Given the description of an element on the screen output the (x, y) to click on. 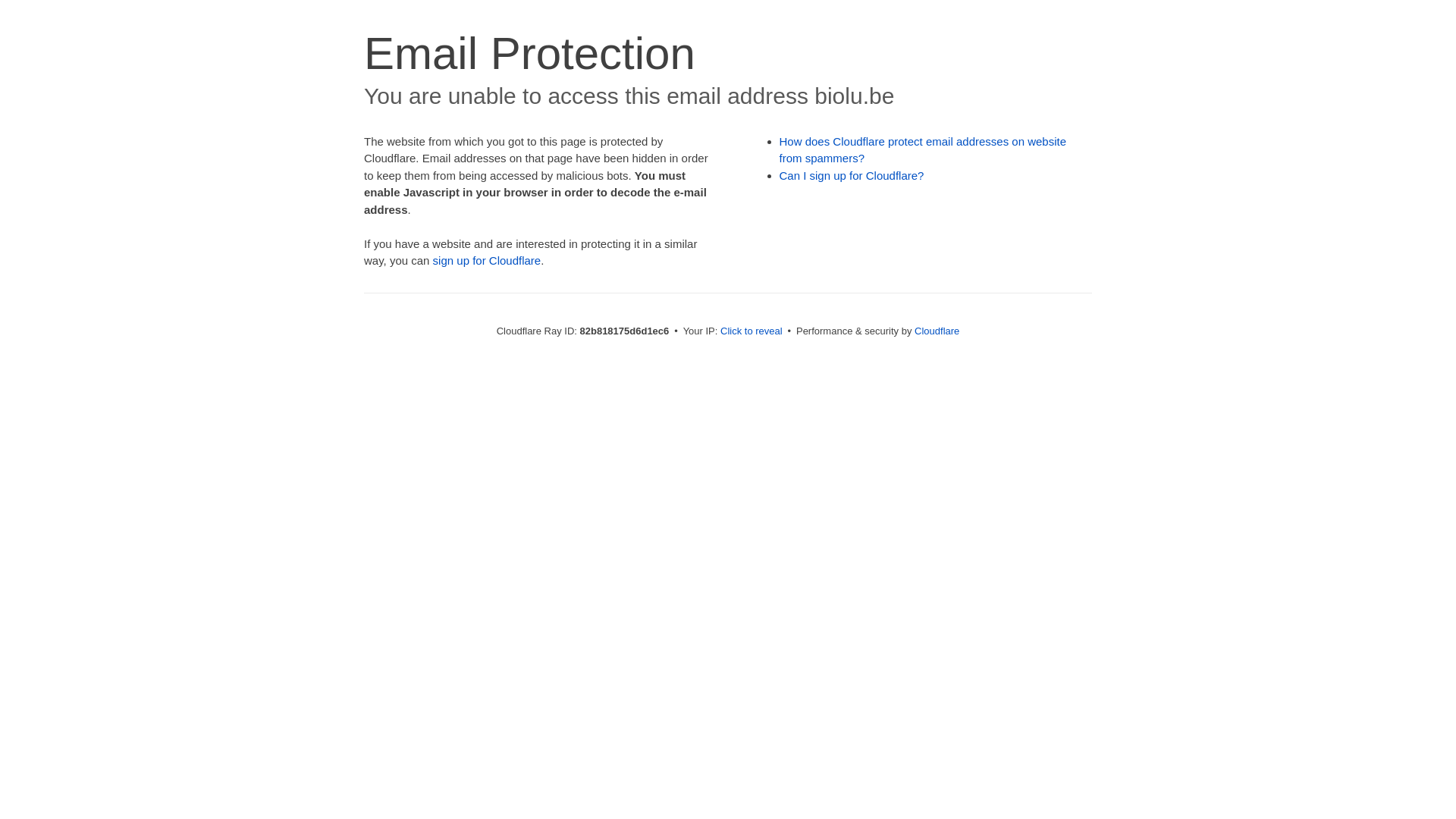
Cloudflare Element type: text (936, 330)
sign up for Cloudflare Element type: text (487, 260)
Click to reveal Element type: text (751, 330)
Can I sign up for Cloudflare? Element type: text (851, 175)
